Given the description of an element on the screen output the (x, y) to click on. 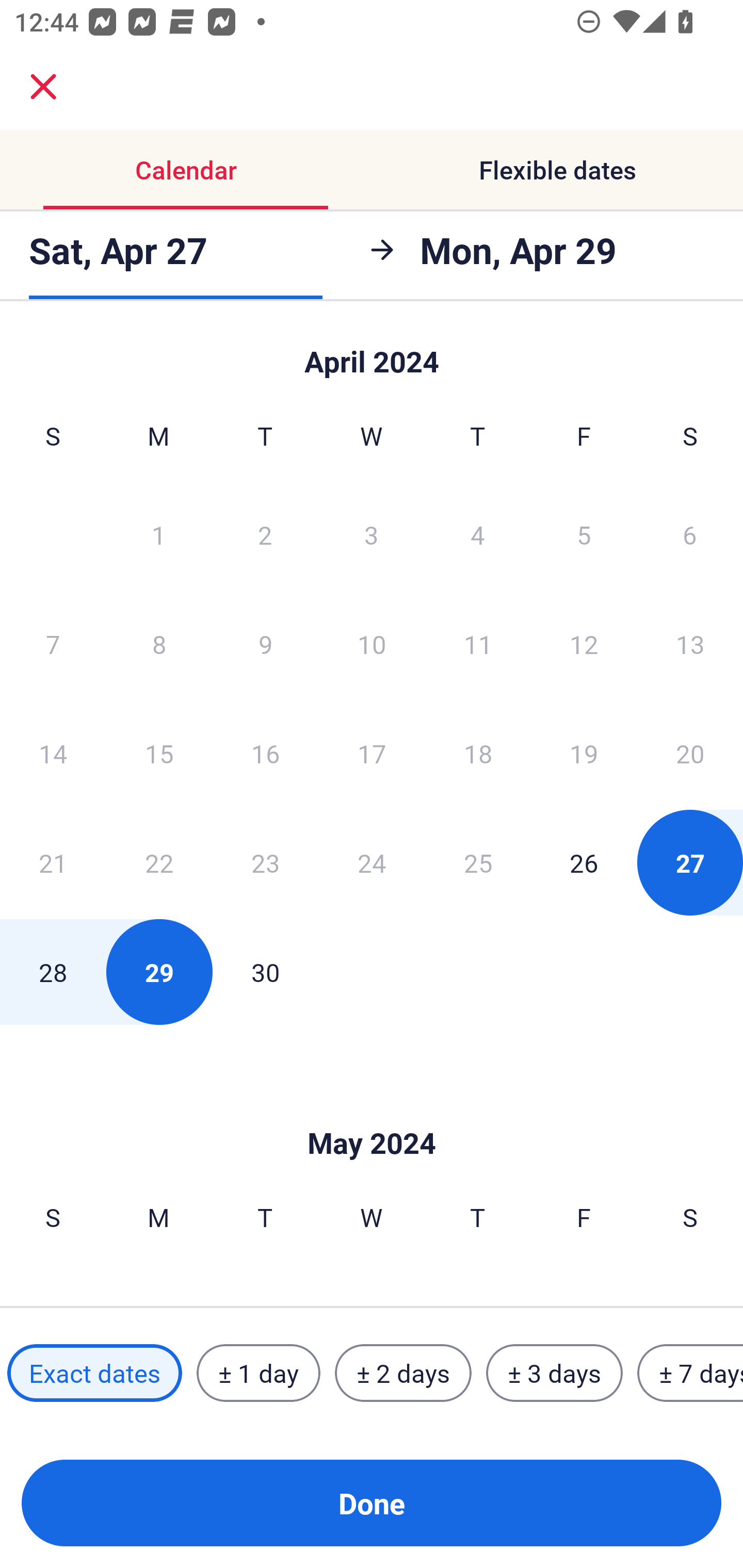
close. (43, 86)
Flexible dates (557, 170)
Skip to Done (371, 352)
1 Monday, April 1, 2024 (158, 534)
2 Tuesday, April 2, 2024 (264, 534)
3 Wednesday, April 3, 2024 (371, 534)
4 Thursday, April 4, 2024 (477, 534)
5 Friday, April 5, 2024 (583, 534)
6 Saturday, April 6, 2024 (689, 534)
7 Sunday, April 7, 2024 (53, 643)
8 Monday, April 8, 2024 (159, 643)
9 Tuesday, April 9, 2024 (265, 643)
10 Wednesday, April 10, 2024 (371, 643)
11 Thursday, April 11, 2024 (477, 643)
12 Friday, April 12, 2024 (584, 643)
13 Saturday, April 13, 2024 (690, 643)
14 Sunday, April 14, 2024 (53, 752)
15 Monday, April 15, 2024 (159, 752)
16 Tuesday, April 16, 2024 (265, 752)
17 Wednesday, April 17, 2024 (371, 752)
18 Thursday, April 18, 2024 (477, 752)
19 Friday, April 19, 2024 (584, 752)
20 Saturday, April 20, 2024 (690, 752)
21 Sunday, April 21, 2024 (53, 862)
22 Monday, April 22, 2024 (159, 862)
23 Tuesday, April 23, 2024 (265, 862)
24 Wednesday, April 24, 2024 (371, 862)
25 Thursday, April 25, 2024 (477, 862)
26 Friday, April 26, 2024 (584, 862)
30 Tuesday, April 30, 2024 (265, 971)
Skip to Done (371, 1112)
Exact dates (94, 1372)
± 1 day (258, 1372)
± 2 days (403, 1372)
± 3 days (553, 1372)
± 7 days (690, 1372)
Done (371, 1502)
